Given the description of an element on the screen output the (x, y) to click on. 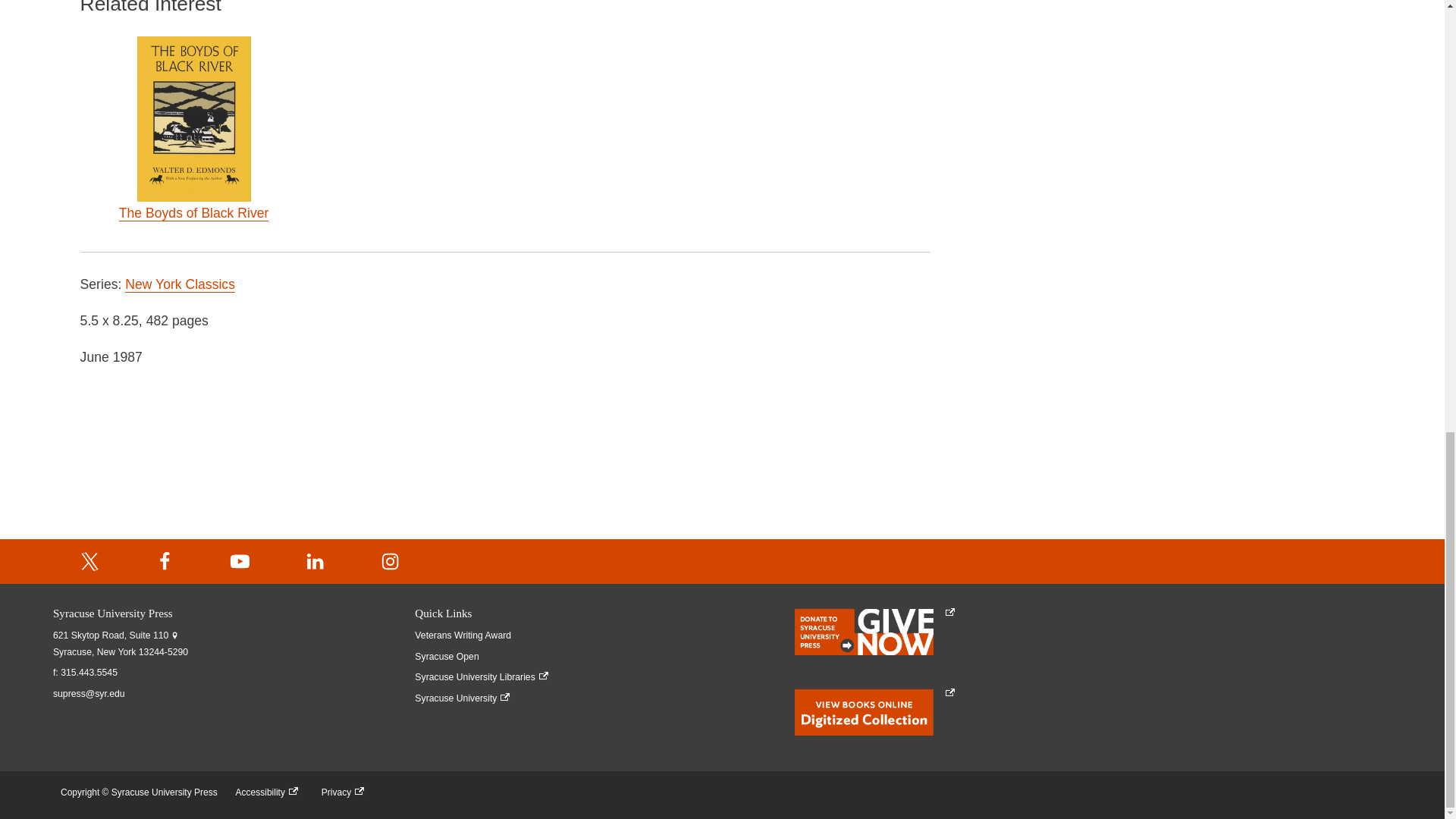
Open location in Google Maps (119, 644)
Syracuse Open (483, 657)
The Boyds of Black River (194, 213)
LinkedIn (315, 561)
Veterans Writing Award (483, 635)
Syracuse University (483, 698)
New York Classics (179, 284)
Privacy (345, 792)
YouTube (240, 561)
X (90, 561)
Accessibility (270, 792)
Instagram (390, 561)
Syracuse University Libraries (483, 677)
Facebook (165, 561)
